Given the description of an element on the screen output the (x, y) to click on. 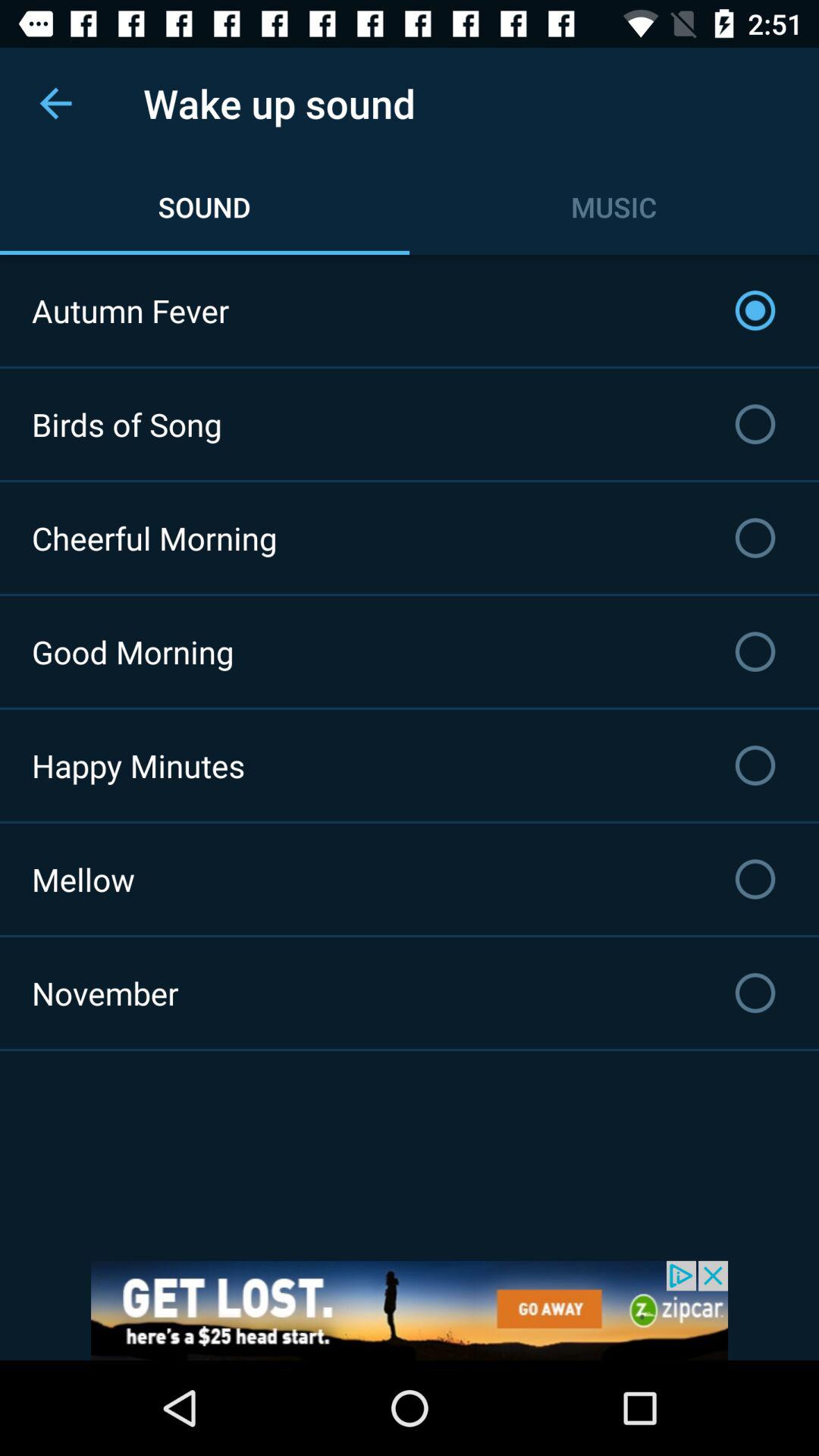
open the item to the left of the wake up sound item (55, 103)
